Given the description of an element on the screen output the (x, y) to click on. 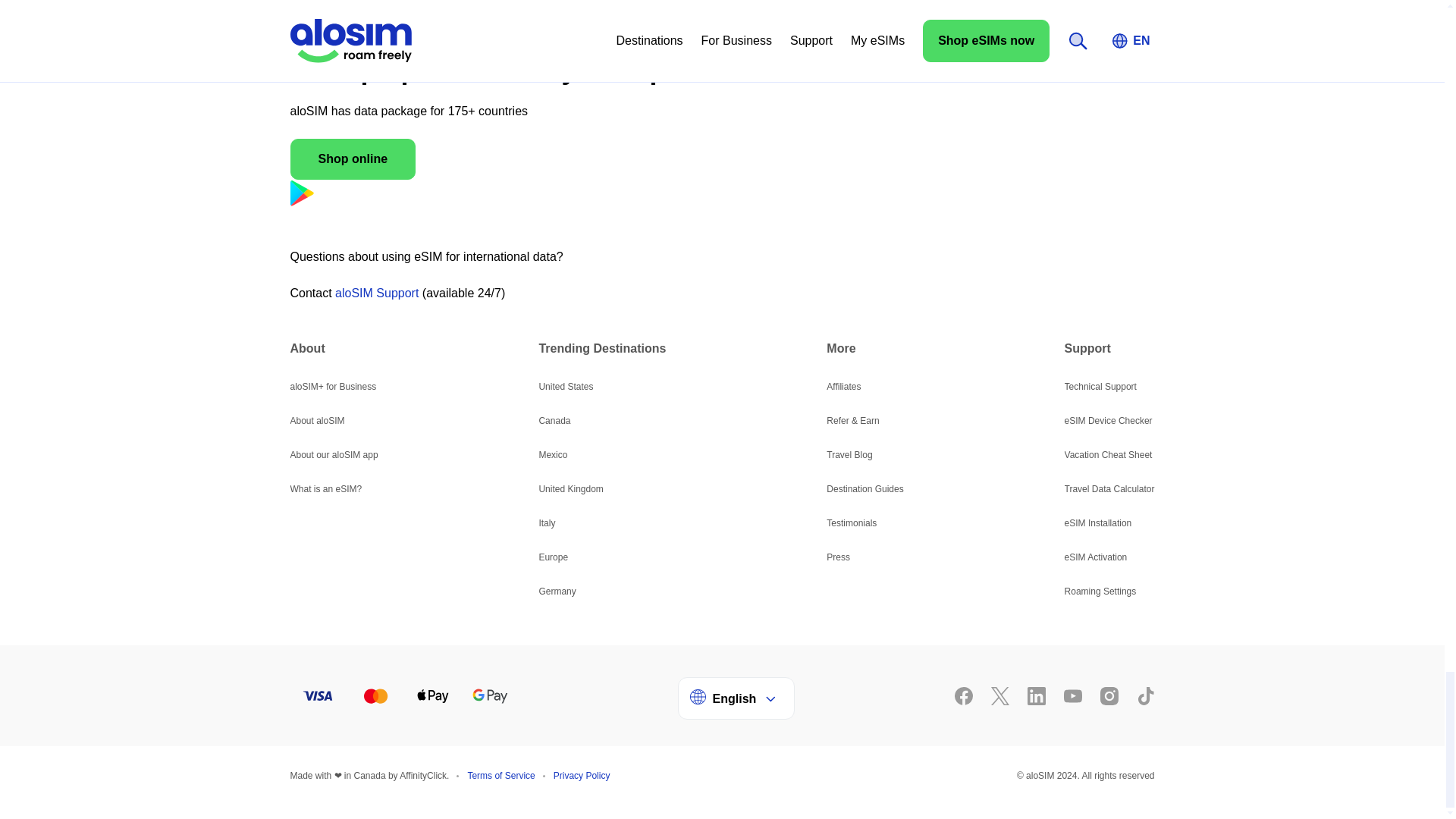
Shop online (351, 158)
Google Play (721, 195)
App Store (721, 230)
